Given the description of an element on the screen output the (x, y) to click on. 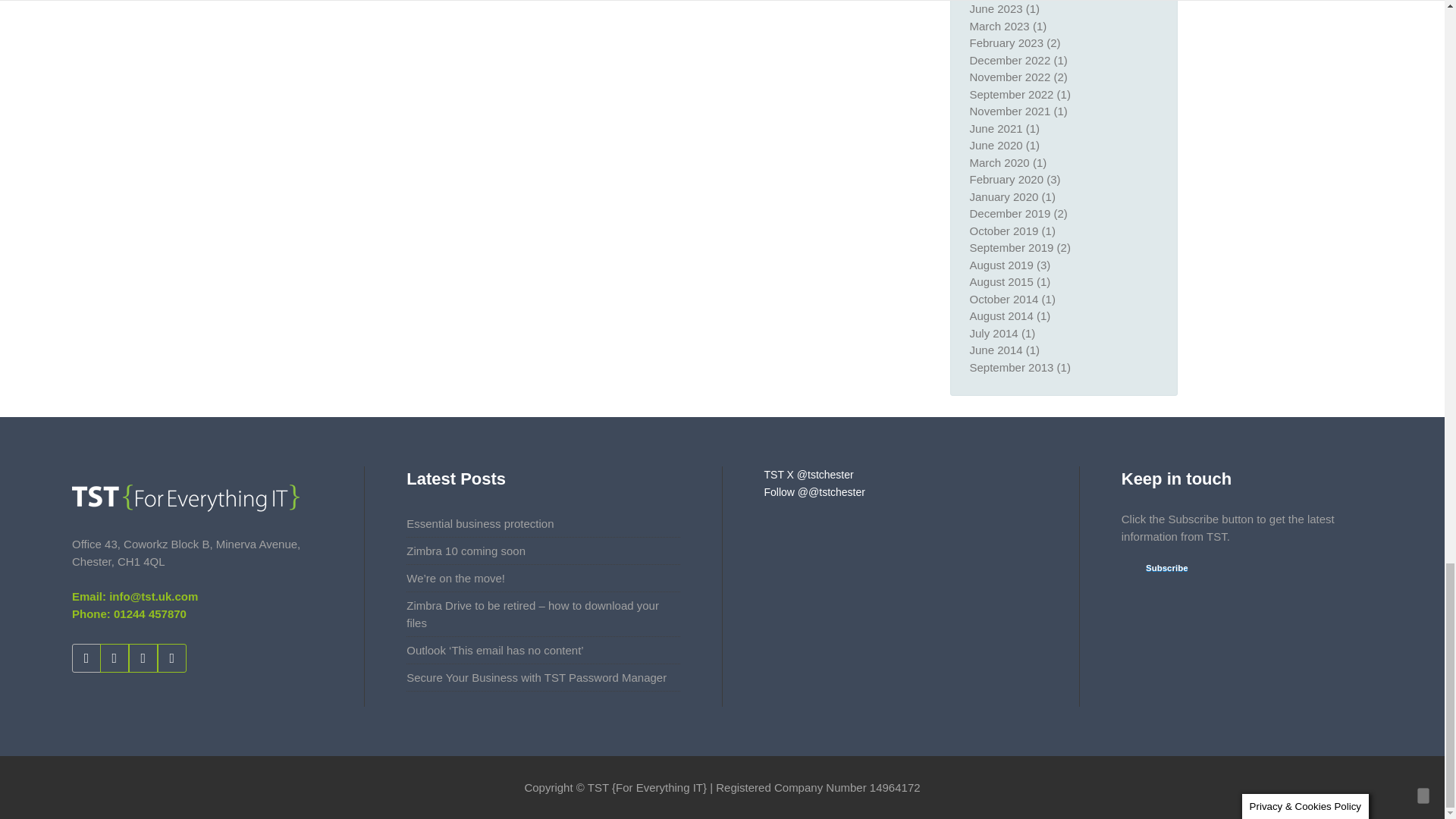
Preview (1157, 568)
